Given the description of an element on the screen output the (x, y) to click on. 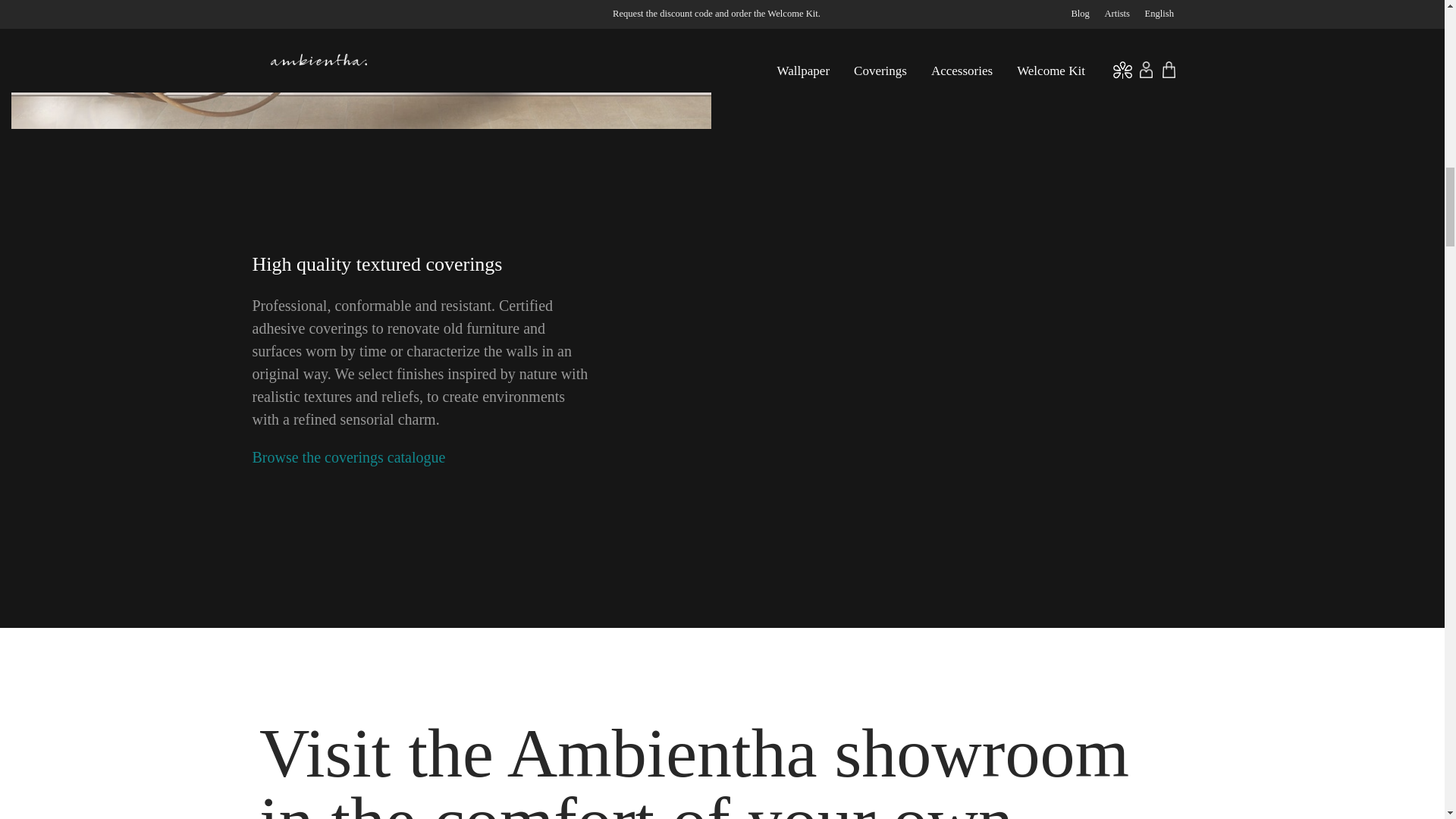
High quality textured coverings (376, 264)
carta-da-parati-ambientha-forest-ruxandra-chivuambientha (361, 64)
Browse the coverings catalogue (348, 457)
